Given the description of an element on the screen output the (x, y) to click on. 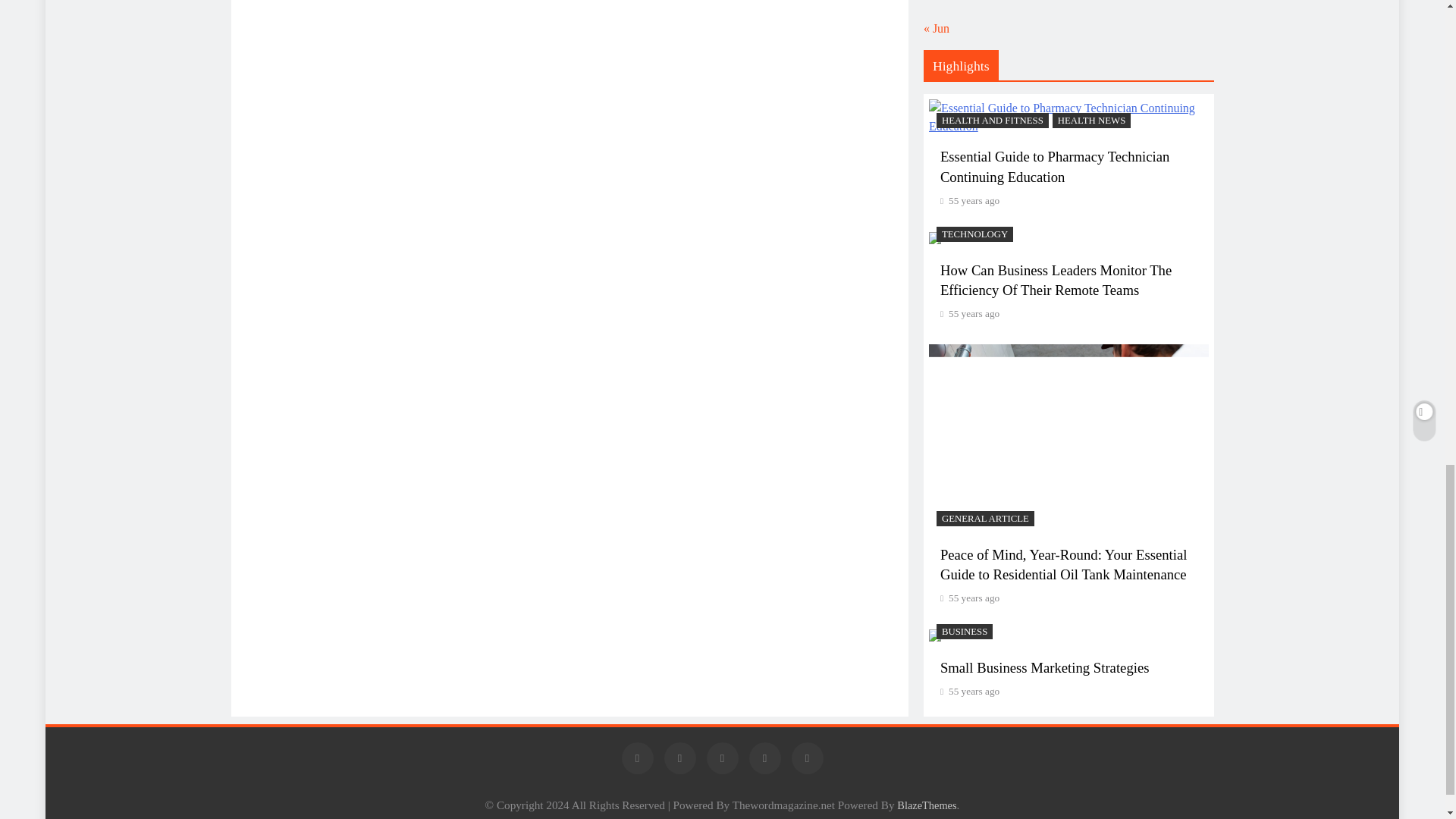
Essential Guide to Pharmacy Technician Continuing Education (1068, 117)
